Given the description of an element on the screen output the (x, y) to click on. 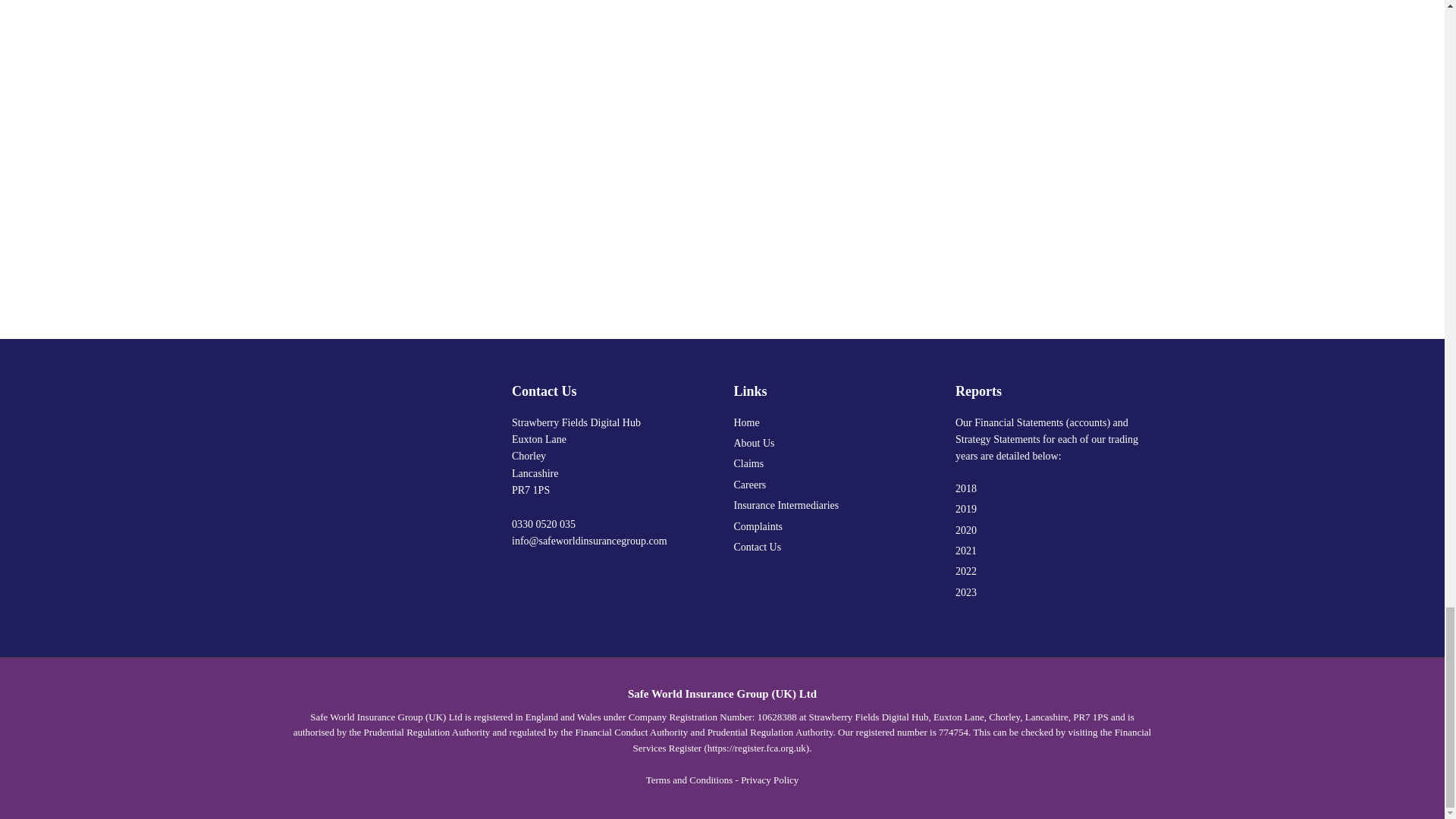
0330 0520 035 (543, 523)
Home (833, 422)
Terms and Conditions (689, 779)
Insurance Intermediaries (833, 505)
2020 (1054, 530)
2022 (1054, 571)
2023 (1054, 592)
2018 (1054, 488)
Privacy Policy (769, 779)
Complaints (833, 526)
